Given the description of an element on the screen output the (x, y) to click on. 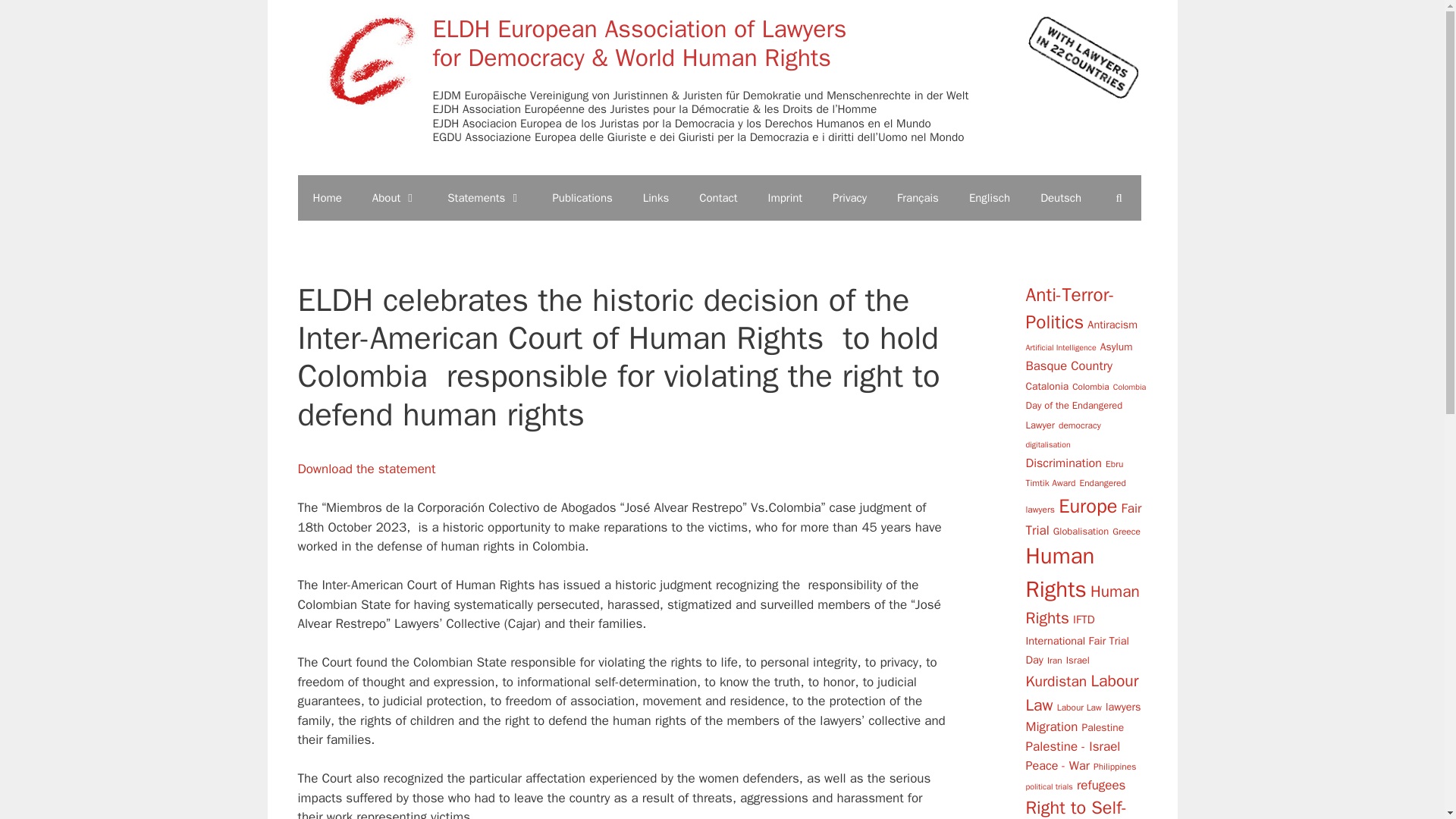
Home (326, 197)
Statements (484, 197)
Publications (582, 197)
Links (655, 197)
About (394, 197)
Contact (718, 197)
Imprint (785, 197)
ELDH (371, 59)
